Given the description of an element on the screen output the (x, y) to click on. 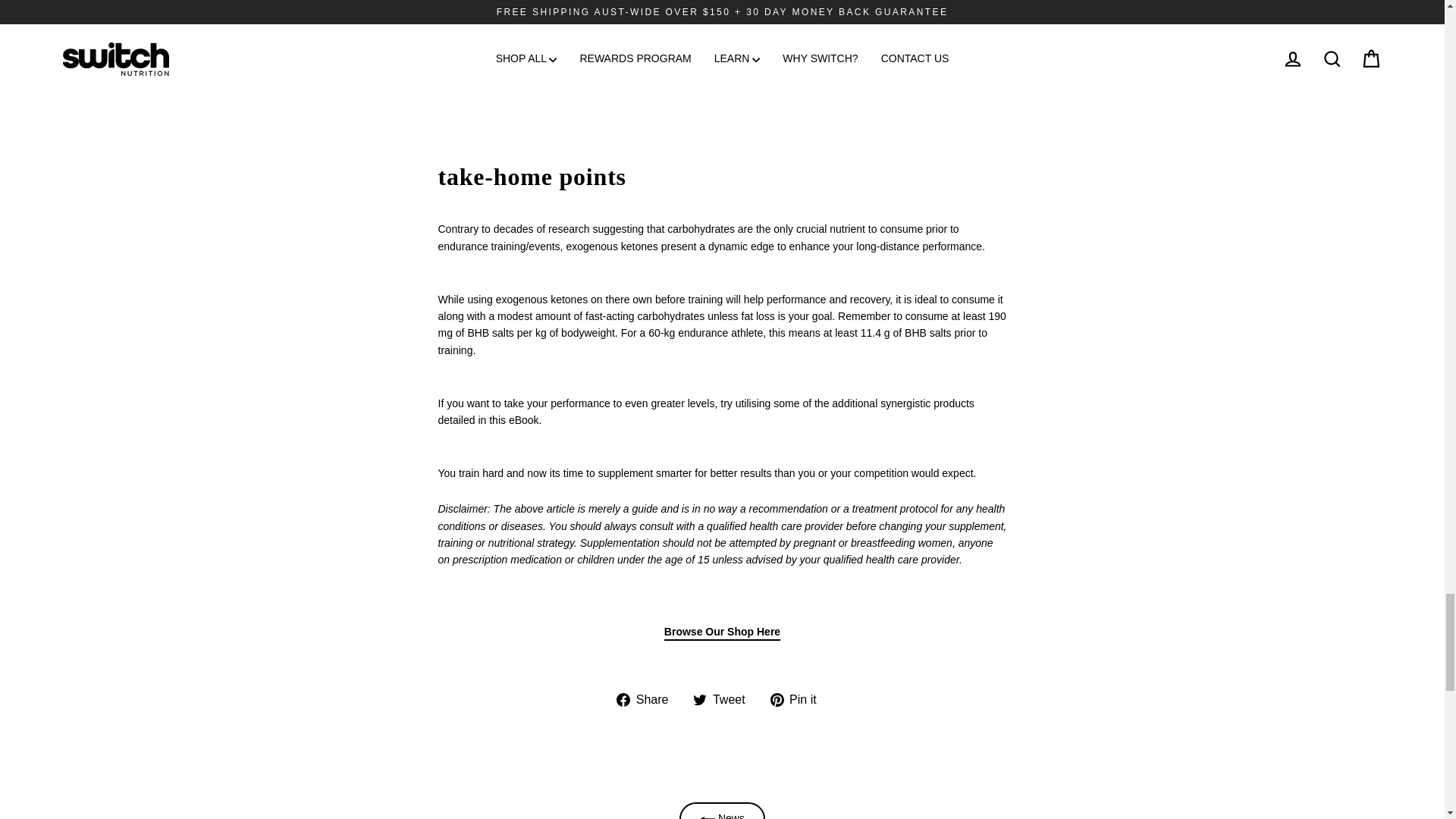
Tweet on Twitter (724, 699)
Pin on Pinterest (799, 699)
Share on Facebook (647, 699)
